Given the description of an element on the screen output the (x, y) to click on. 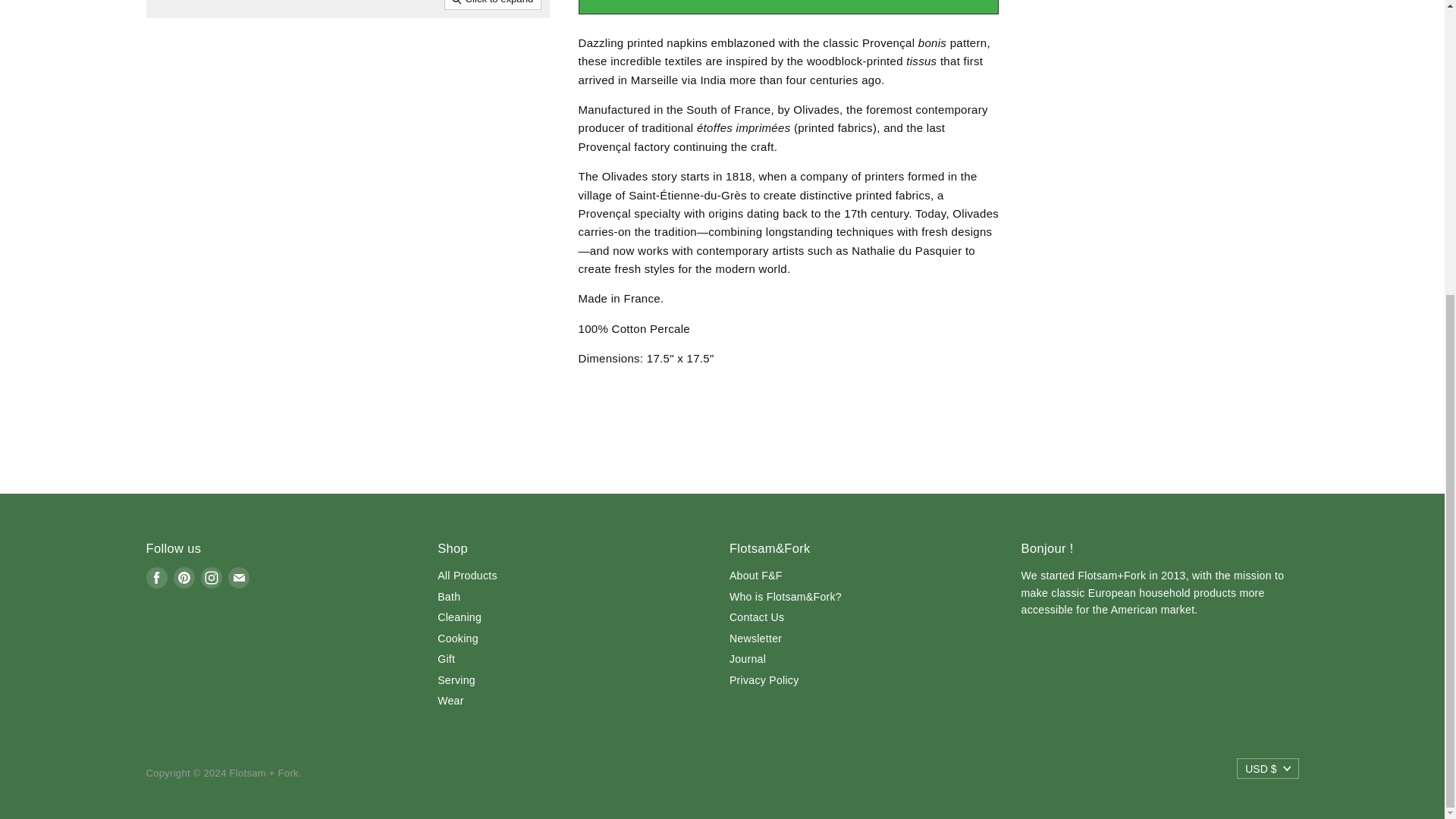
E-mail (237, 577)
Pinterest (183, 577)
Facebook (156, 577)
Instagram (210, 577)
